Given the description of an element on the screen output the (x, y) to click on. 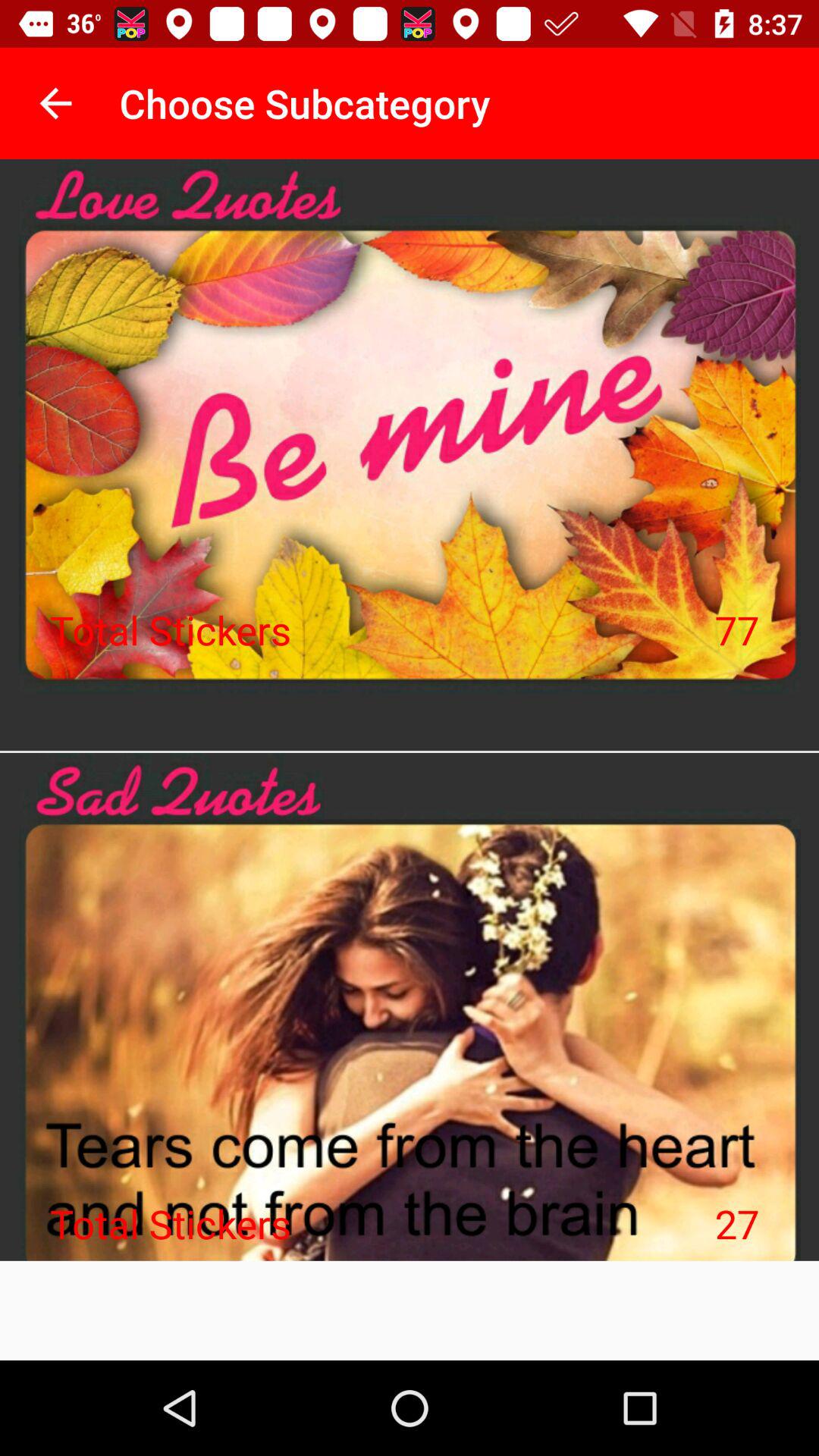
open item next to total stickers icon (736, 629)
